Given the description of an element on the screen output the (x, y) to click on. 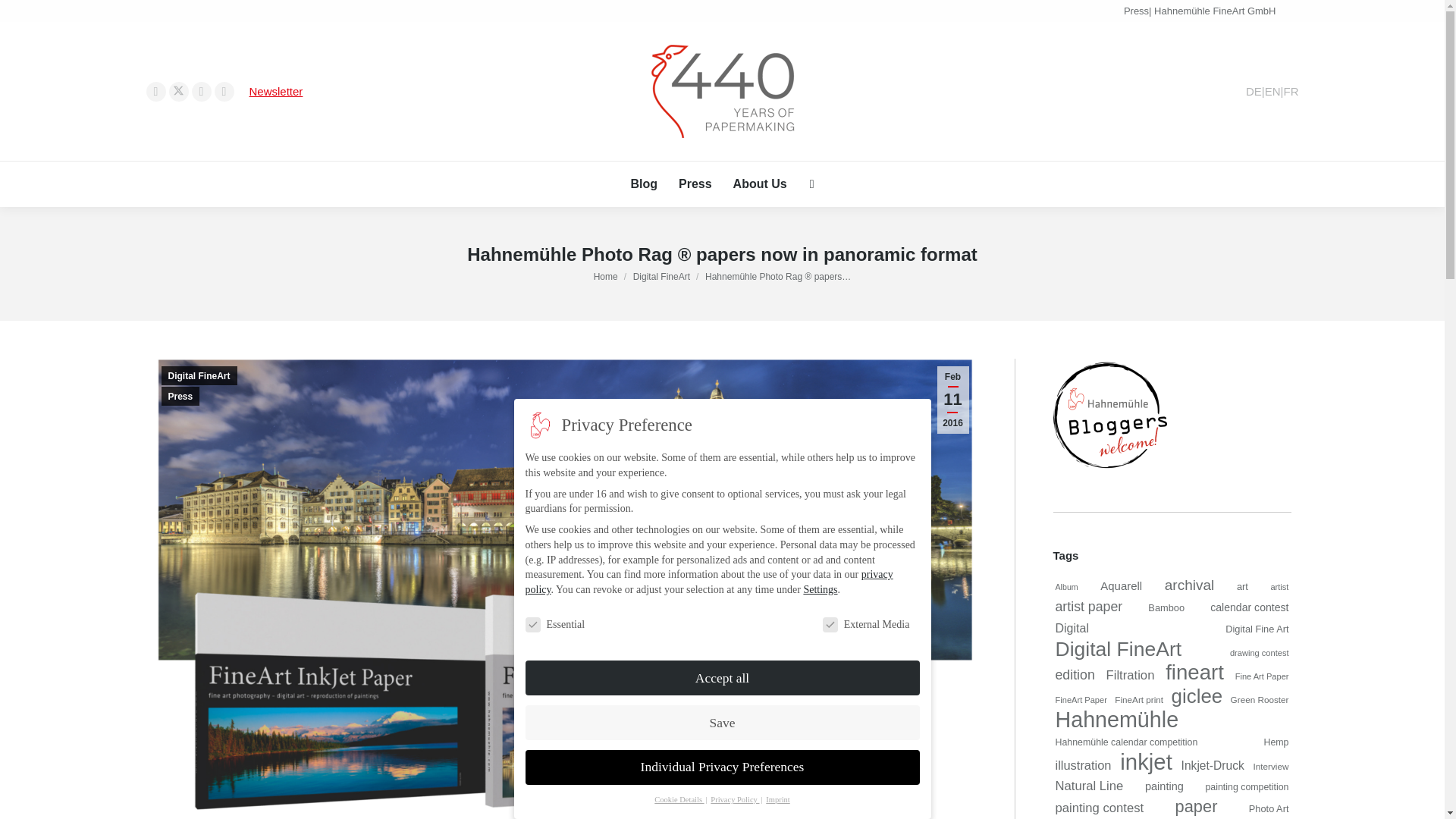
Go! (24, 16)
EN (1273, 91)
Blog (644, 183)
Linkedin page opens in new window (223, 91)
About Us (760, 183)
Newsletter subscription (275, 91)
Newsletter (275, 91)
EN (1273, 91)
Twitter page opens in new window (177, 91)
Facebook page opens in new window (155, 91)
